Given the description of an element on the screen output the (x, y) to click on. 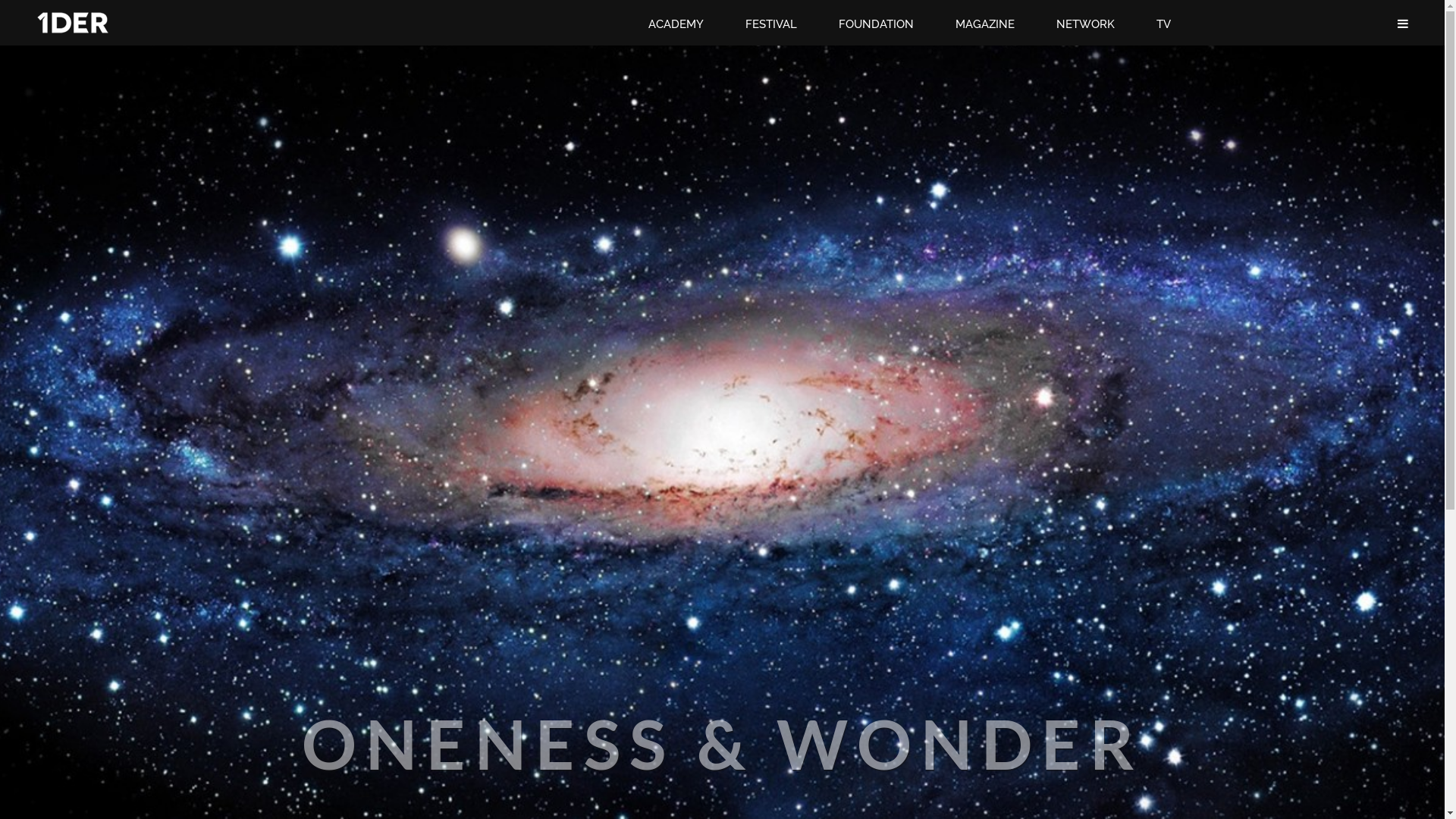
MAGAZINE Element type: text (990, 23)
FESTIVAL Element type: text (776, 23)
NETWORK Element type: text (1091, 23)
TV Element type: text (1169, 23)
ACADEMY Element type: text (681, 23)
1DER Element type: hover (73, 22)
FOUNDATION Element type: text (881, 23)
